Given the description of an element on the screen output the (x, y) to click on. 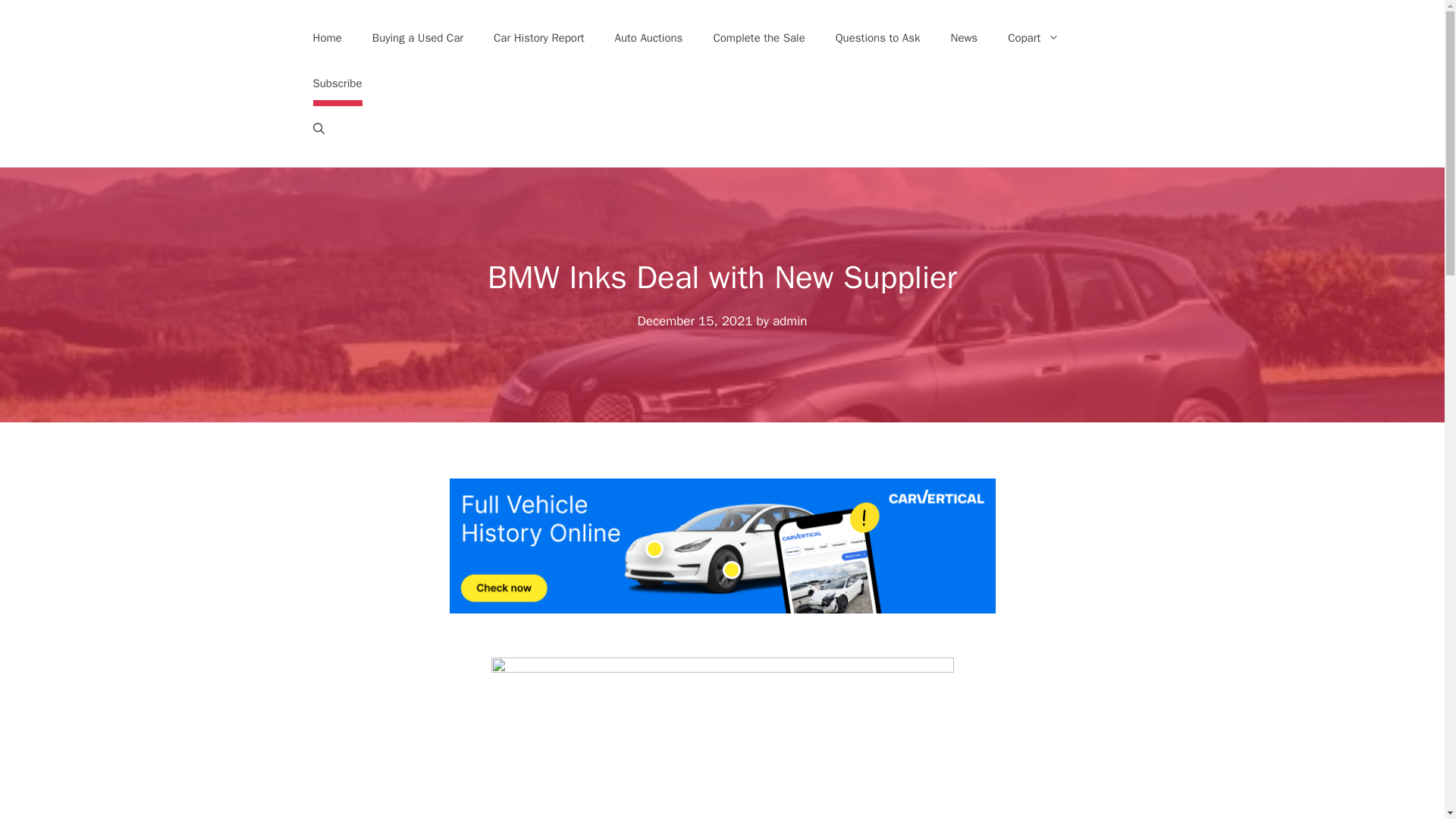
View all posts by admin (790, 320)
News (964, 37)
Questions to Ask (878, 37)
admin (790, 320)
Auto Auctions (648, 37)
Home (326, 37)
Subscribe (337, 83)
Car History Report (539, 37)
Buying a Used Car (417, 37)
Complete the Sale (758, 37)
